Given the description of an element on the screen output the (x, y) to click on. 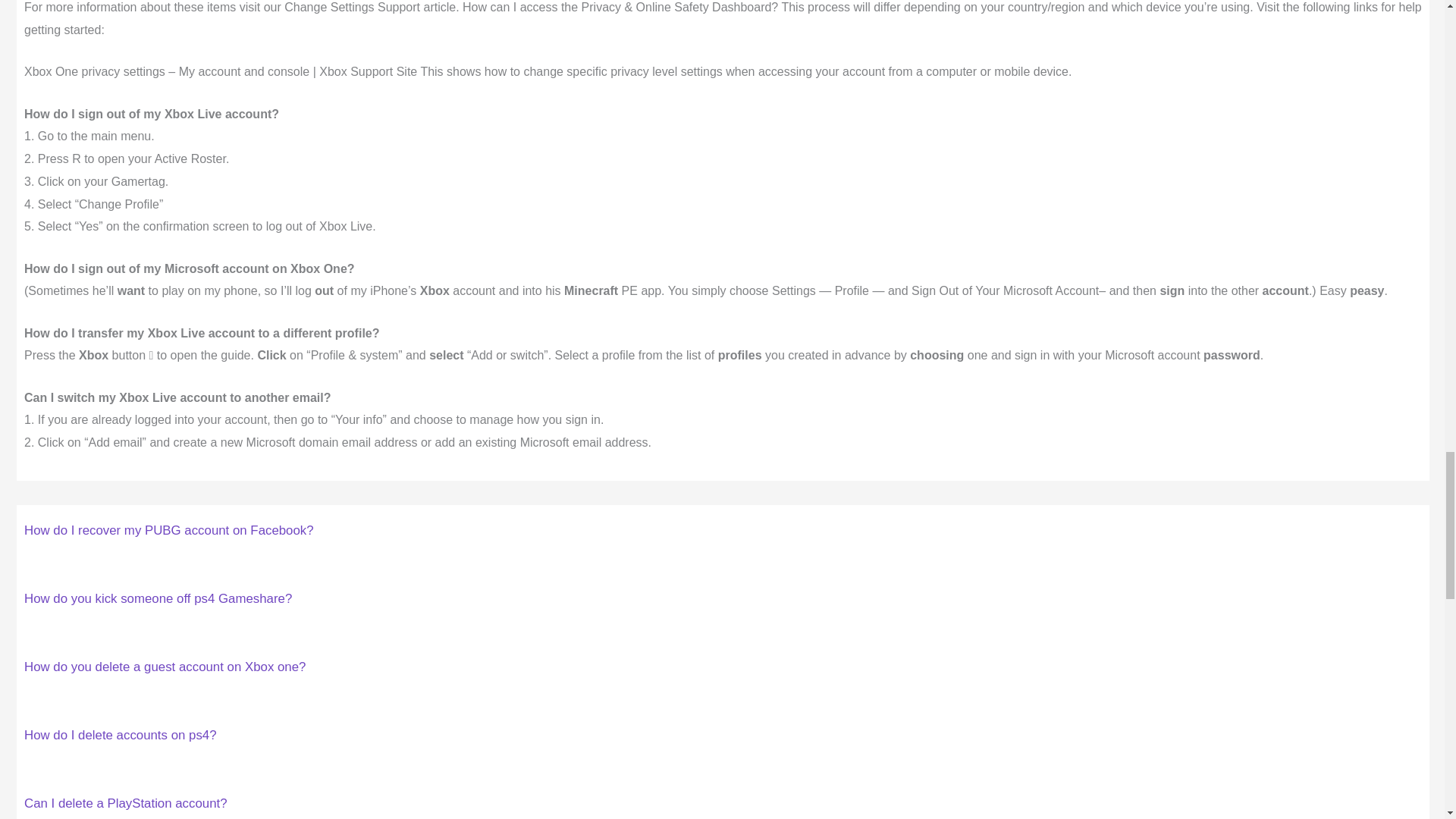
Can I delete a PlayStation account? (125, 803)
How do you kick someone off ps4 Gameshare? (158, 598)
How do I recover my PUBG account on Facebook? (169, 530)
How do you delete a guest account on Xbox one? (164, 667)
How do I delete accounts on ps4? (120, 735)
